Given the description of an element on the screen output the (x, y) to click on. 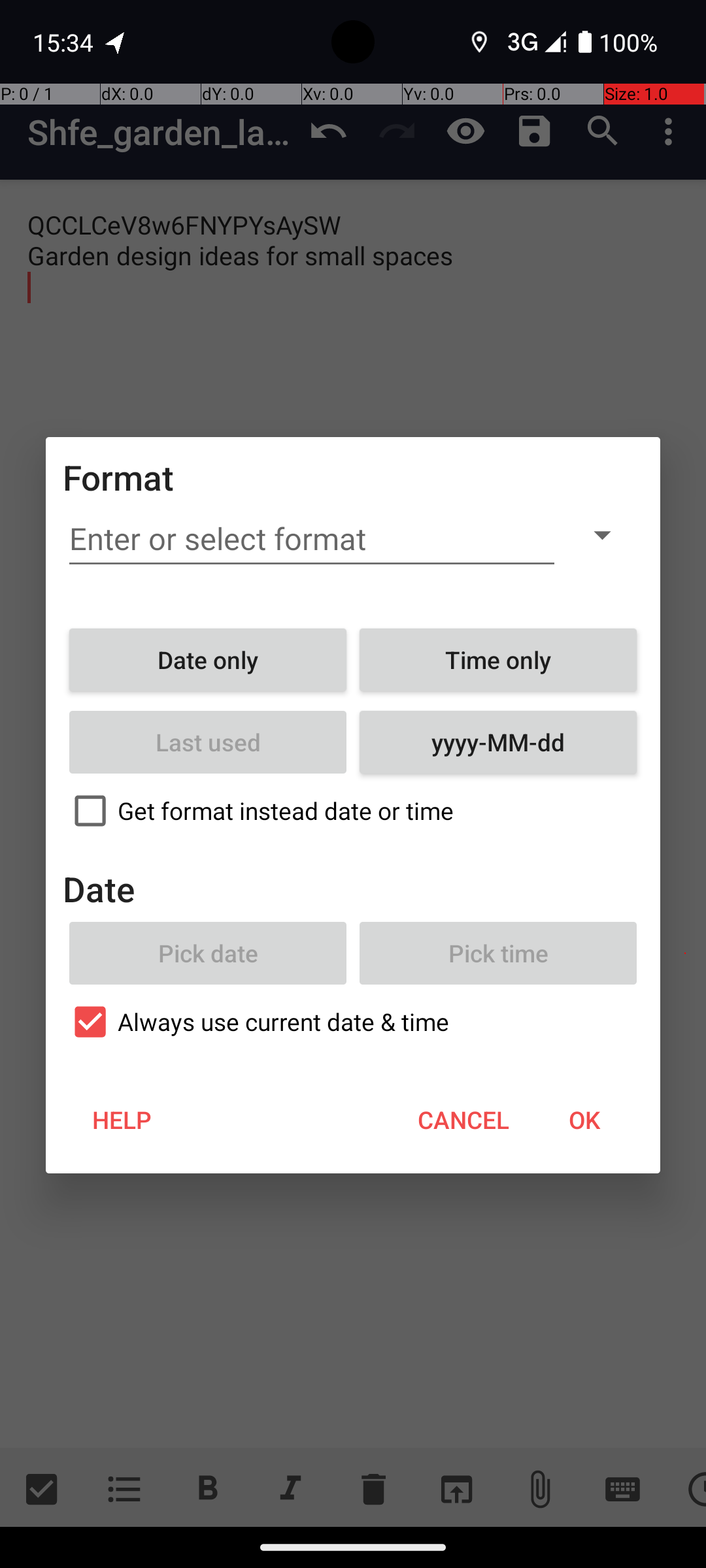
Format Element type: android.widget.TextView (118, 477)
Enter or select format Element type: android.widget.EditText (311, 538)
Choose format Element type: android.widget.TextView (601, 534)
Date only Element type: android.widget.Button (207, 659)
Time only Element type: android.widget.Button (498, 659)
Last used Element type: android.widget.Button (207, 742)
yyyy-MM-dd Element type: android.widget.Button (498, 742)
Get format instead date or time Element type: android.widget.CheckBox (352, 810)
Pick date Element type: android.widget.Button (207, 953)
Pick time Element type: android.widget.Button (498, 953)
Always use current date & time Element type: android.widget.CheckBox (352, 1021)
HELP Element type: android.widget.Button (121, 1119)
